Given the description of an element on the screen output the (x, y) to click on. 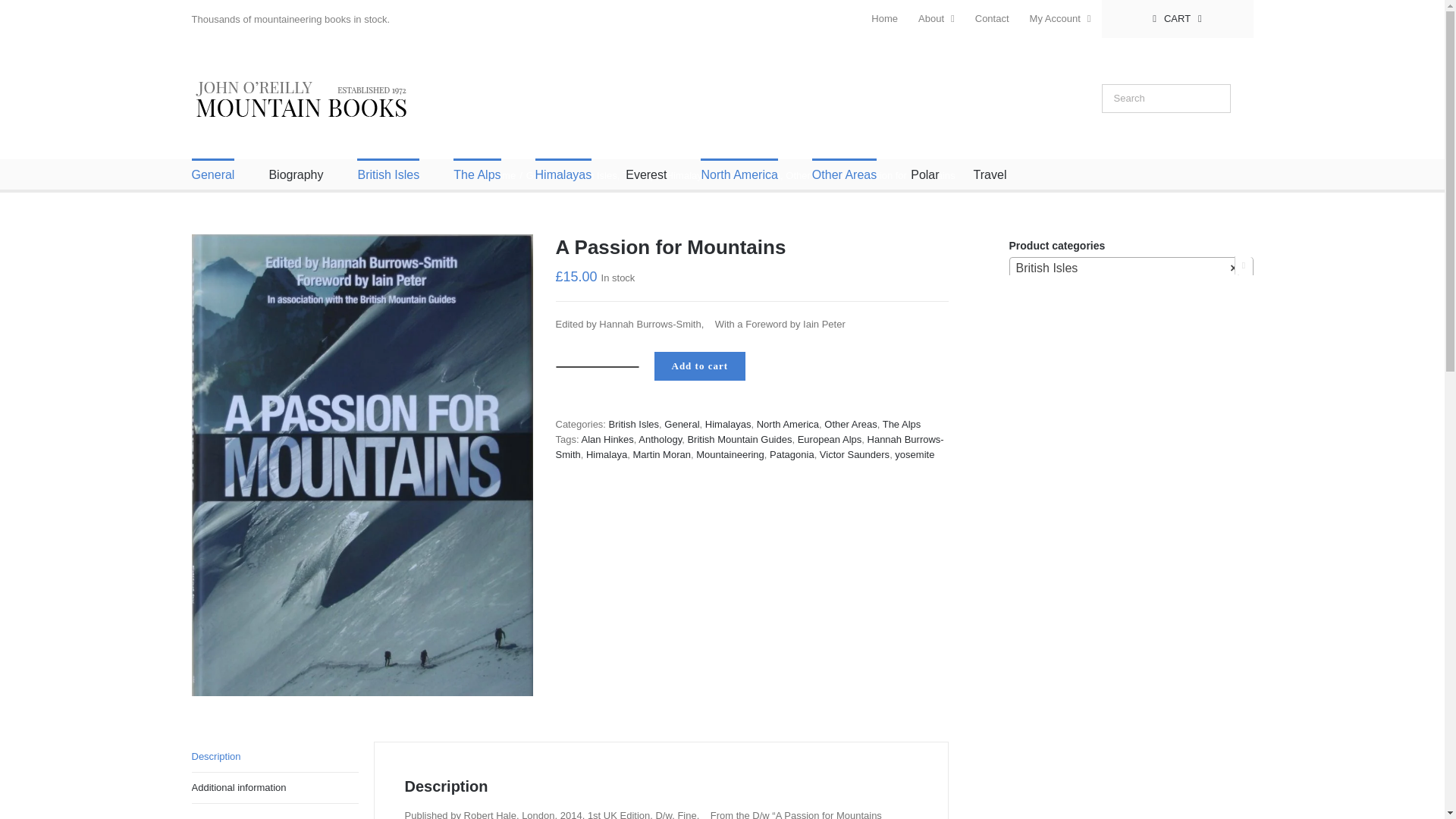
About (935, 18)
Biography (295, 173)
CART (1177, 18)
The Alps (476, 173)
Thousands of mountaineering books in stock. (290, 19)
Everest (646, 173)
Himalayas (563, 173)
British Isles (387, 173)
General (212, 173)
Contact (992, 18)
My Account (1060, 18)
Polar (925, 173)
North America (738, 173)
Log In (1114, 162)
Other Areas (844, 173)
